Given the description of an element on the screen output the (x, y) to click on. 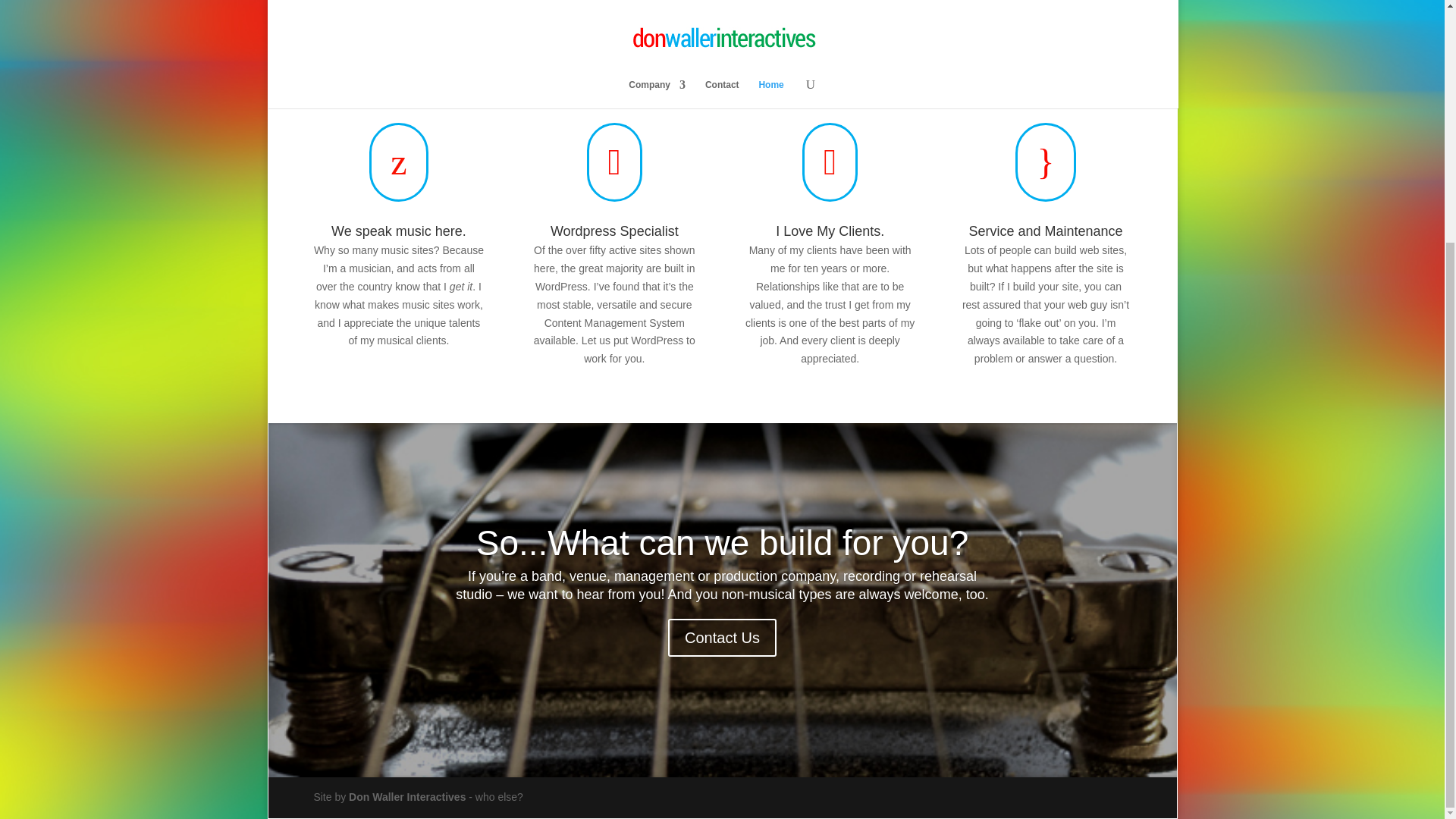
Don Waller Interactives (407, 797)
DWI (407, 797)
